Given the description of an element on the screen output the (x, y) to click on. 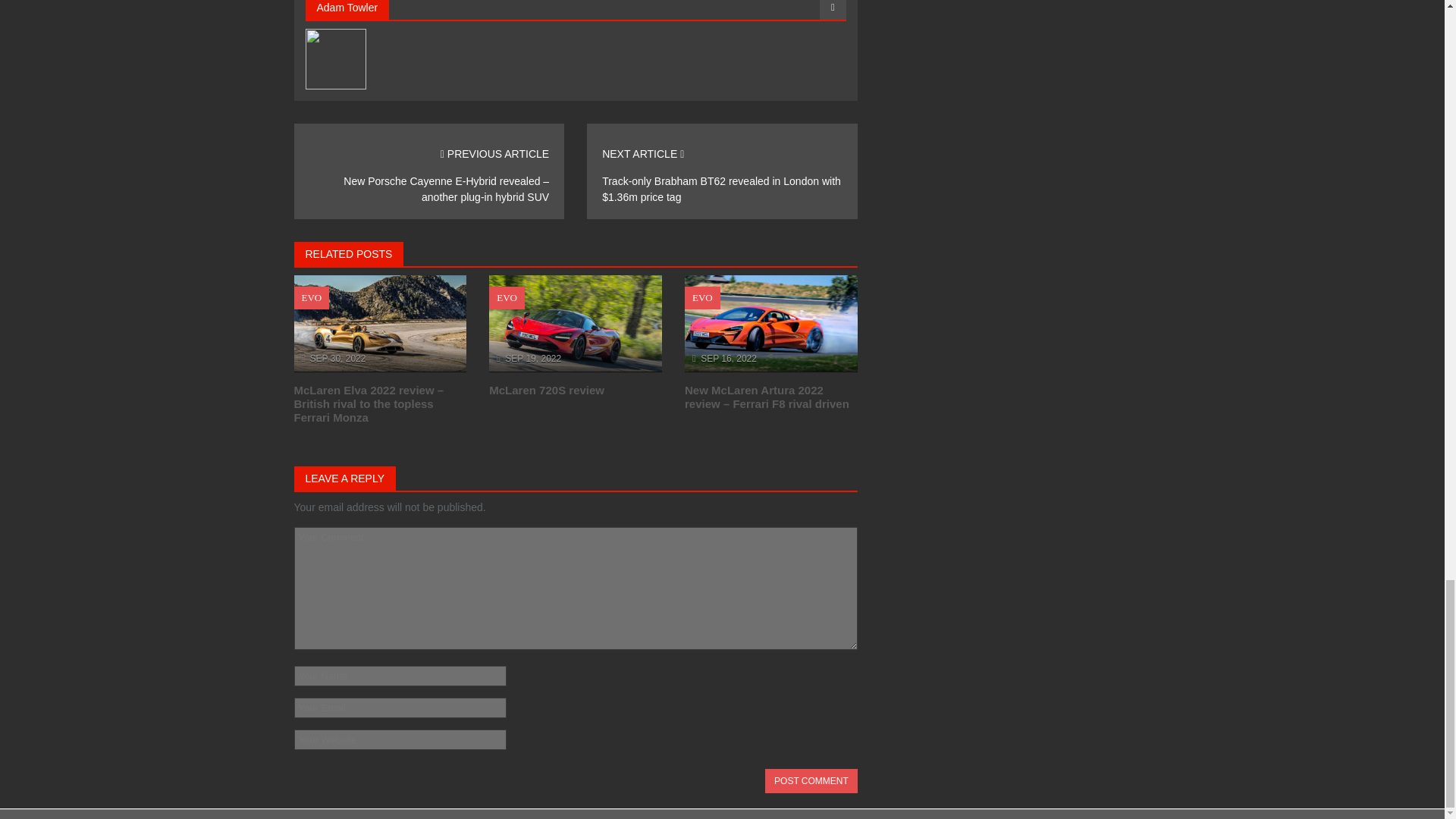
Post Comment (811, 781)
